Given the description of an element on the screen output the (x, y) to click on. 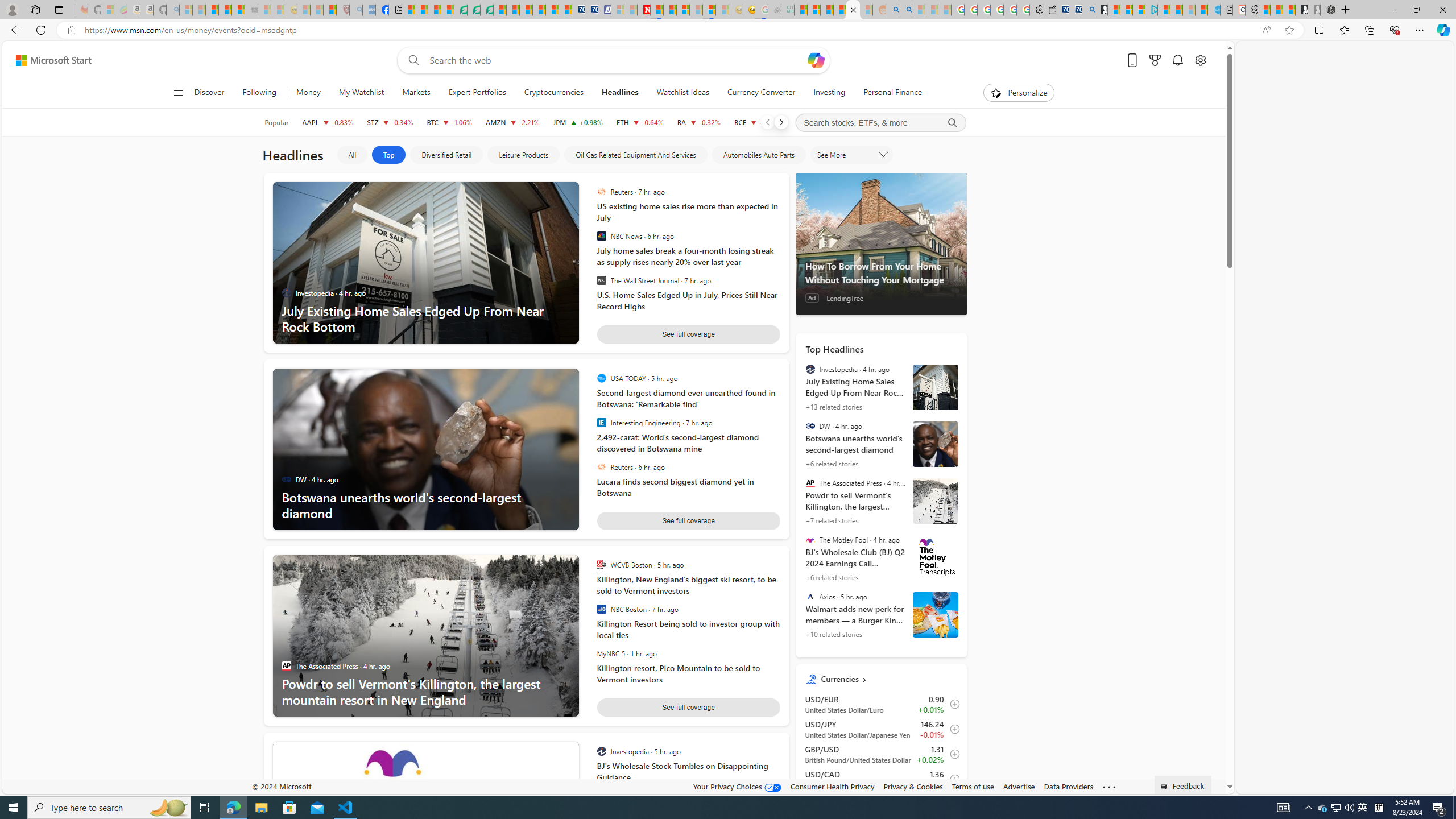
list of asthma inhalers uk - Search - Sleeping (355, 9)
Data Providers (1068, 785)
USA TODAY (600, 378)
Money (308, 92)
DW (810, 425)
